Given the description of an element on the screen output the (x, y) to click on. 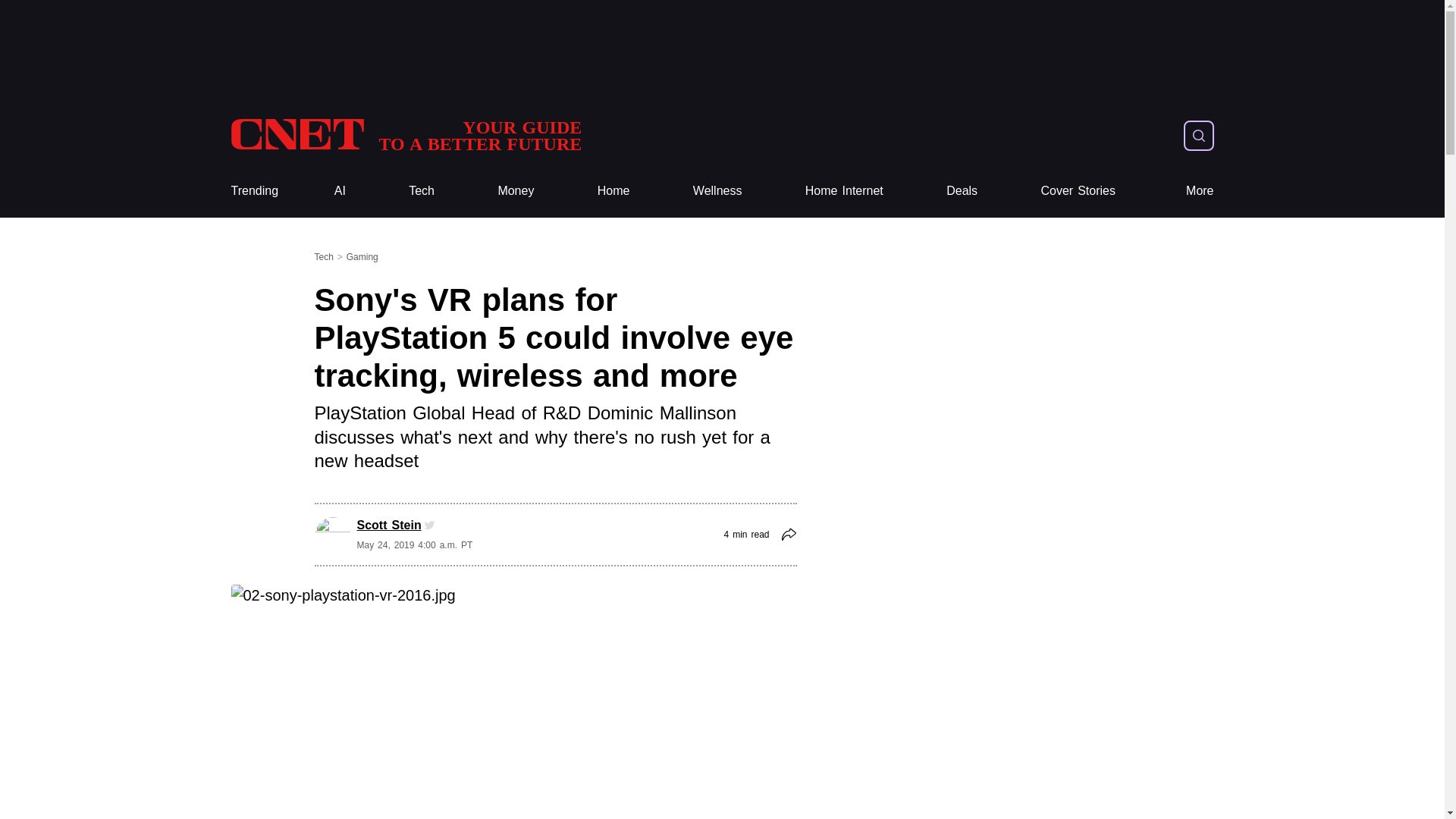
Trending (254, 190)
Trending (254, 190)
AI (340, 190)
Wellness (717, 190)
Home Internet (844, 190)
Tech (421, 190)
Home (613, 190)
Wellness (405, 135)
Home (717, 190)
Money (613, 190)
Money (515, 190)
CNET (515, 190)
Cover Stories (405, 135)
More (1078, 190)
